Given the description of an element on the screen output the (x, y) to click on. 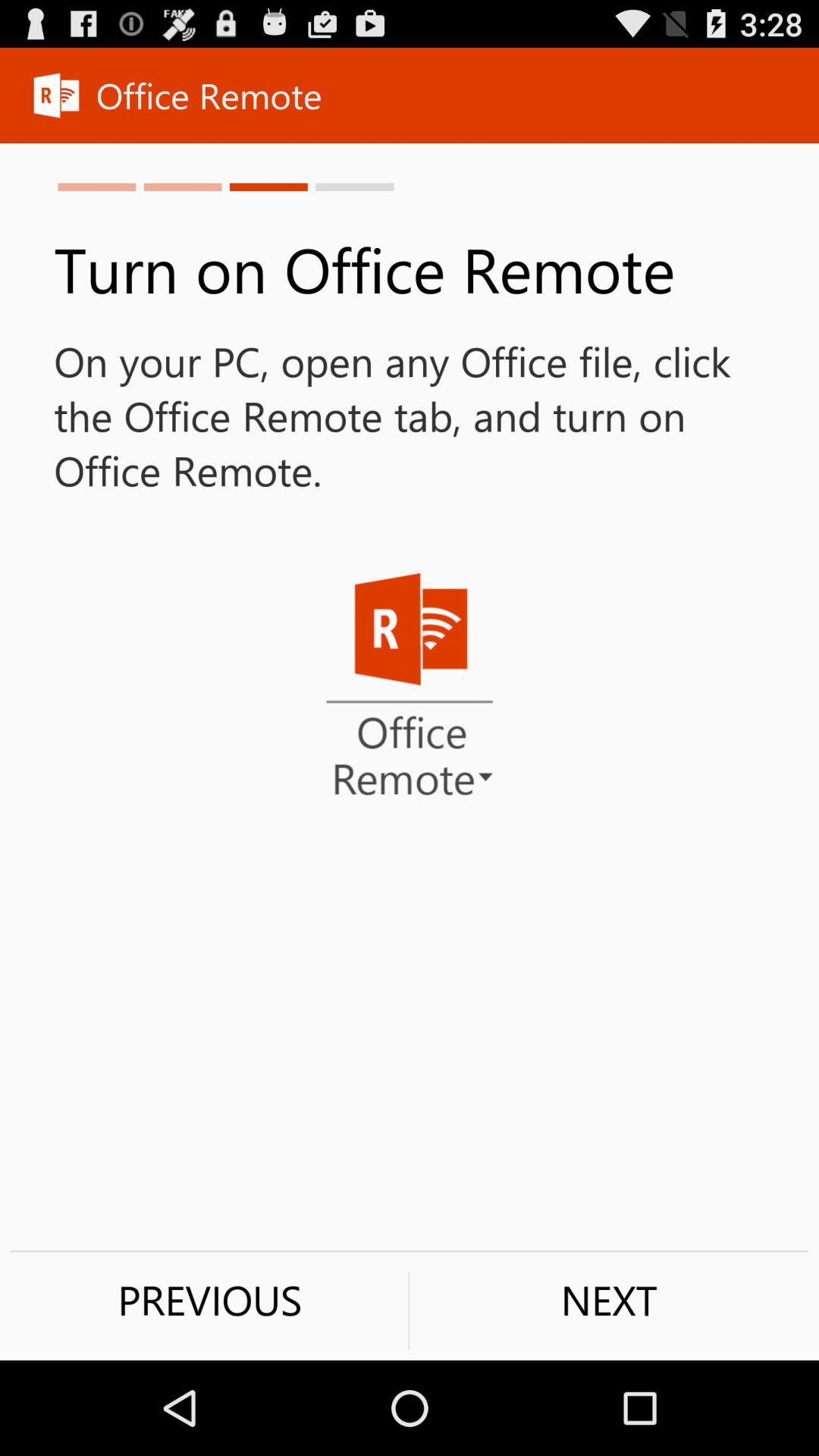
click the next (608, 1300)
